Given the description of an element on the screen output the (x, y) to click on. 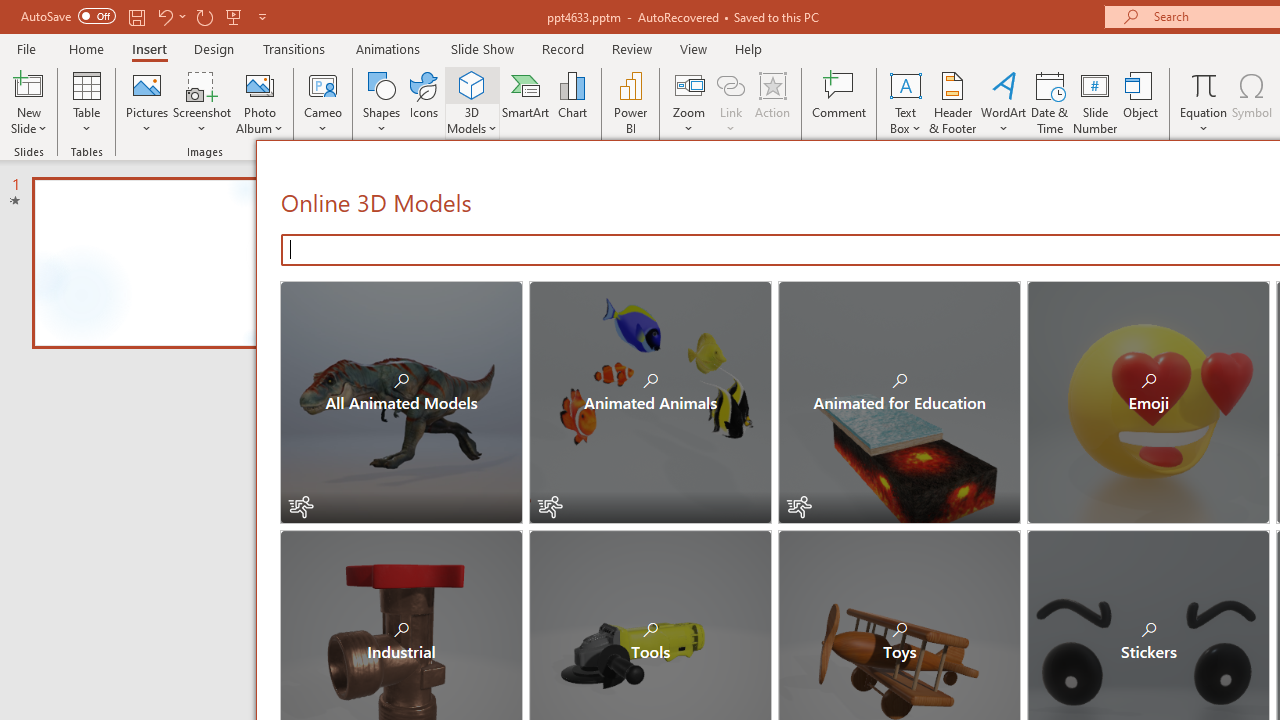
3D Models (472, 102)
Action (772, 102)
Symbol... (1252, 102)
Table (86, 102)
Icons (424, 102)
Header & Footer... (952, 102)
